Given the description of an element on the screen output the (x, y) to click on. 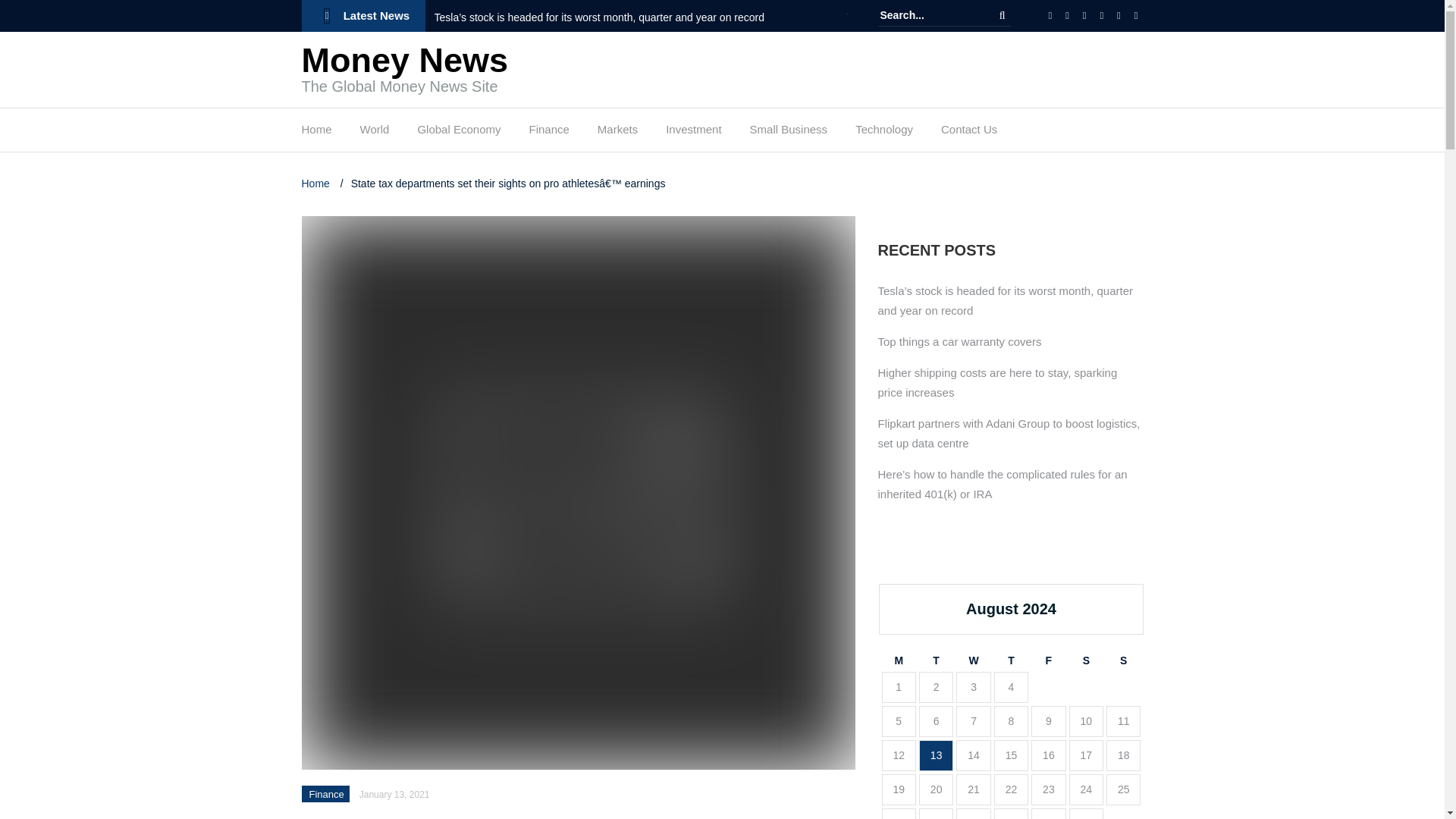
Saturday (1085, 660)
Friday (1047, 660)
Finance (548, 133)
Wednesday (973, 660)
Markets (616, 133)
Search   (1002, 14)
Money News (404, 59)
Monday (897, 660)
Home (316, 133)
World (374, 133)
